Given the description of an element on the screen output the (x, y) to click on. 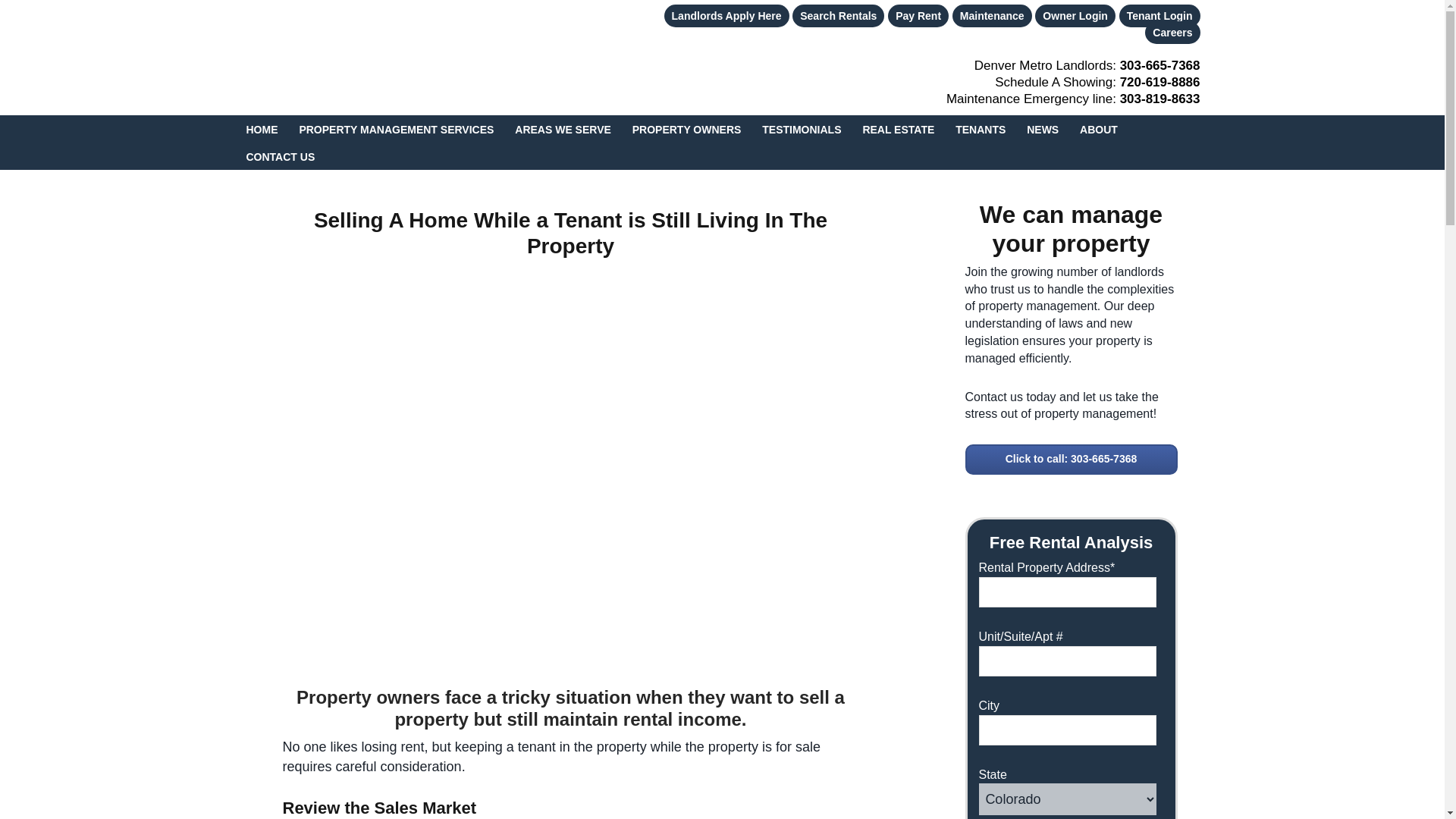
Colorado Realty and Property Management, Inc. (349, 56)
PROPERTY OWNERS (687, 128)
Search Rentals (837, 15)
AREAS WE SERVE (562, 128)
Pay Rent (917, 15)
Owner Login (1075, 15)
Tenant Login (1159, 15)
Careers (1172, 32)
HOME (260, 128)
PROPERTY MANAGEMENT SERVICES (395, 128)
